Given the description of an element on the screen output the (x, y) to click on. 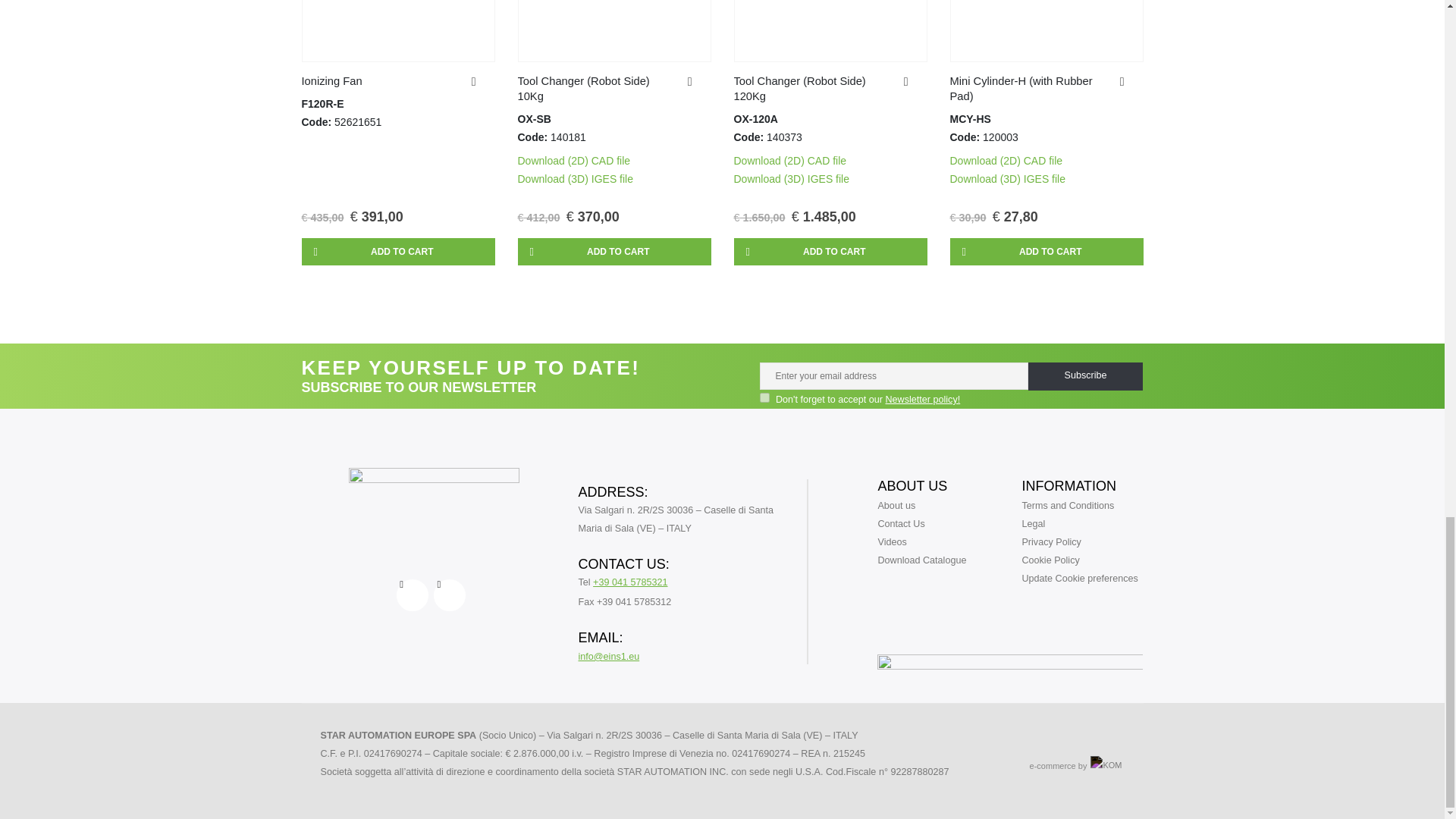
Privacy Policy  (922, 398)
Subscribe (1084, 376)
1 (765, 397)
KOM (1105, 766)
